Given the description of an element on the screen output the (x, y) to click on. 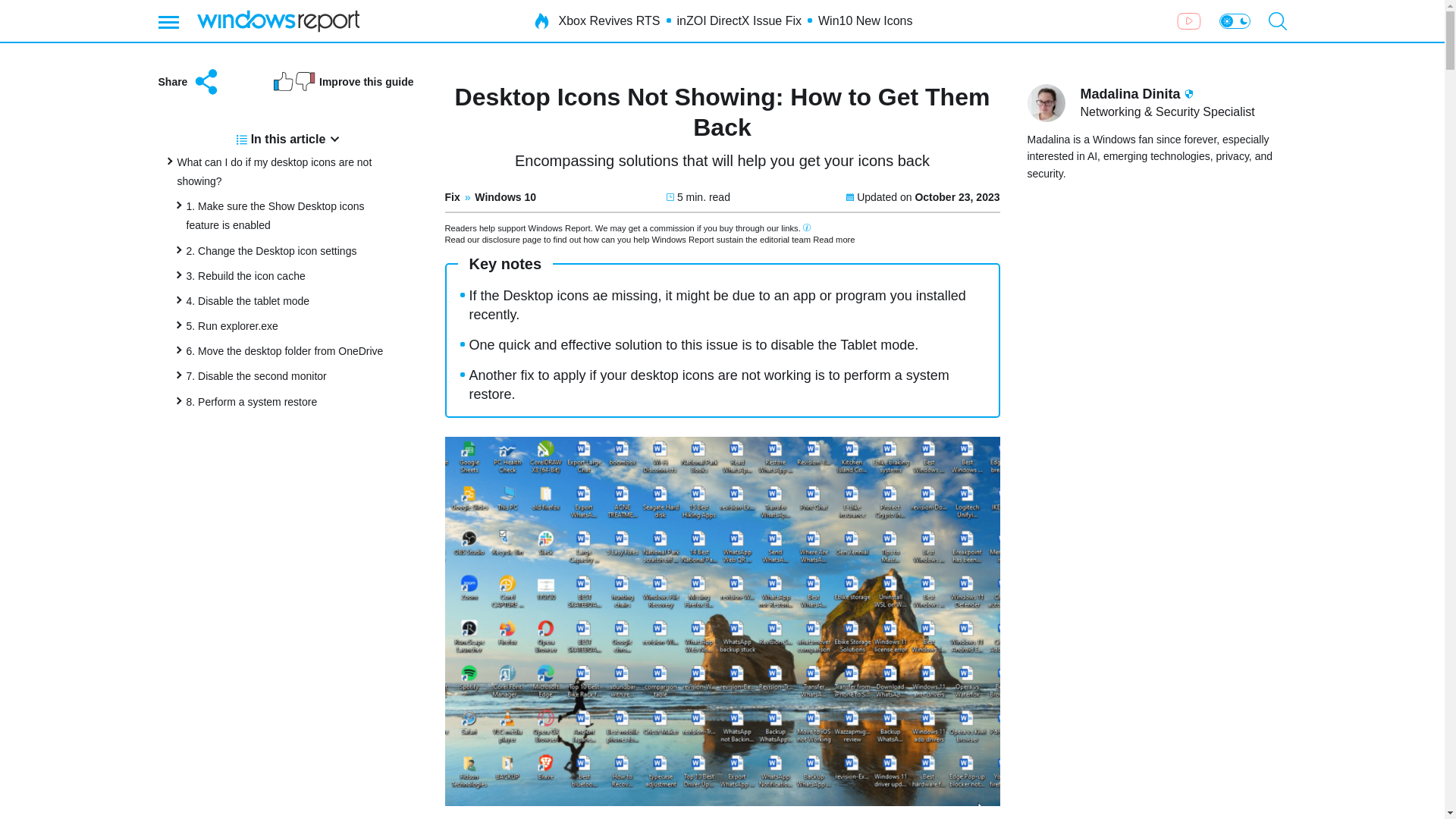
1. Make sure the Show Desktop icons feature is enabled (275, 214)
3. Rebuild the icon cache (245, 275)
4. Disable the tablet mode (248, 300)
Open search bar (1276, 21)
Share (189, 81)
Win10 New Icons (865, 21)
5. Run explorer.exe (232, 326)
2. Change the Desktop icon settings (271, 250)
What can I do if my desktop icons are not showing? (274, 171)
Xbox Revives RTS (610, 21)
